Given the description of an element on the screen output the (x, y) to click on. 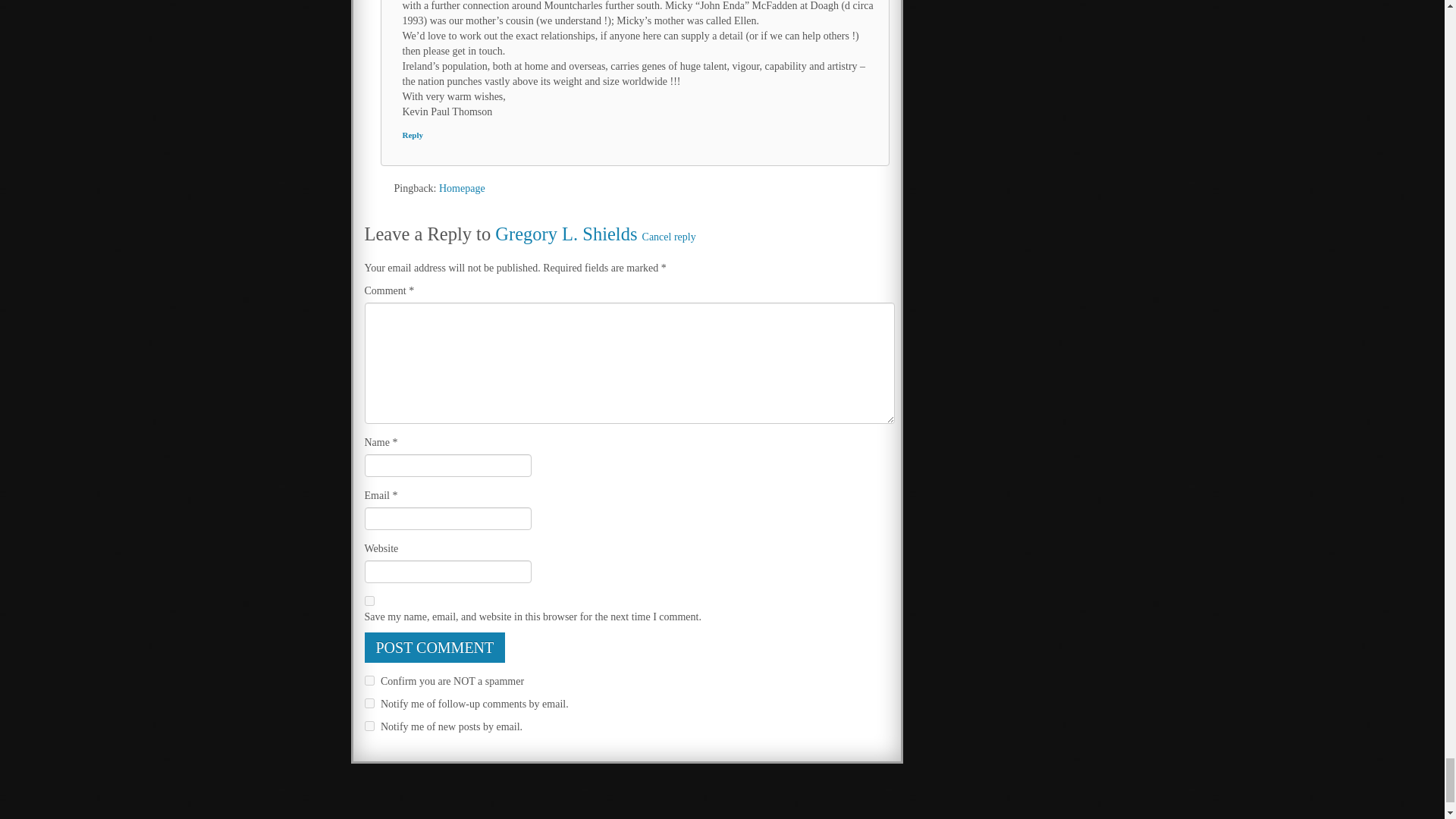
subscribe (369, 726)
on (369, 680)
subscribe (369, 703)
Post Comment (434, 647)
yes (369, 601)
